Given the description of an element on the screen output the (x, y) to click on. 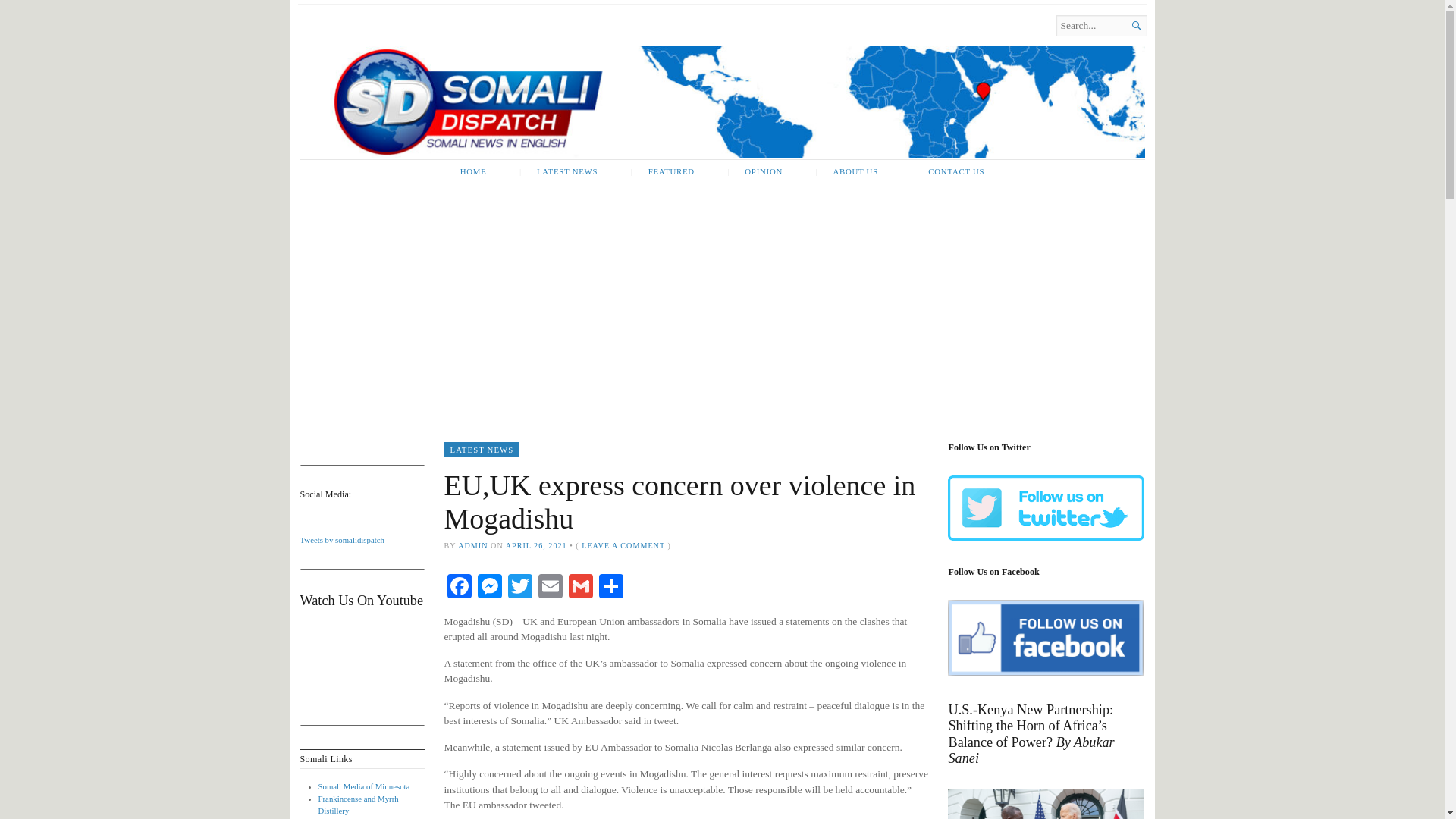
Frankincense and Myrrh Distillery (358, 803)
FEATURED (662, 171)
Email (550, 587)
APRIL 26, 2021 (536, 545)
Messenger (489, 587)
Somali Dispatch (721, 101)
CONTACT US (946, 171)
Somali Dispatch (463, 44)
Home (463, 44)
View all posts by admin (472, 545)
OPINION (754, 171)
LATEST NEWS (481, 449)
Hiiraan Online (342, 818)
Tweets by somalidispatch (341, 539)
